Given the description of an element on the screen output the (x, y) to click on. 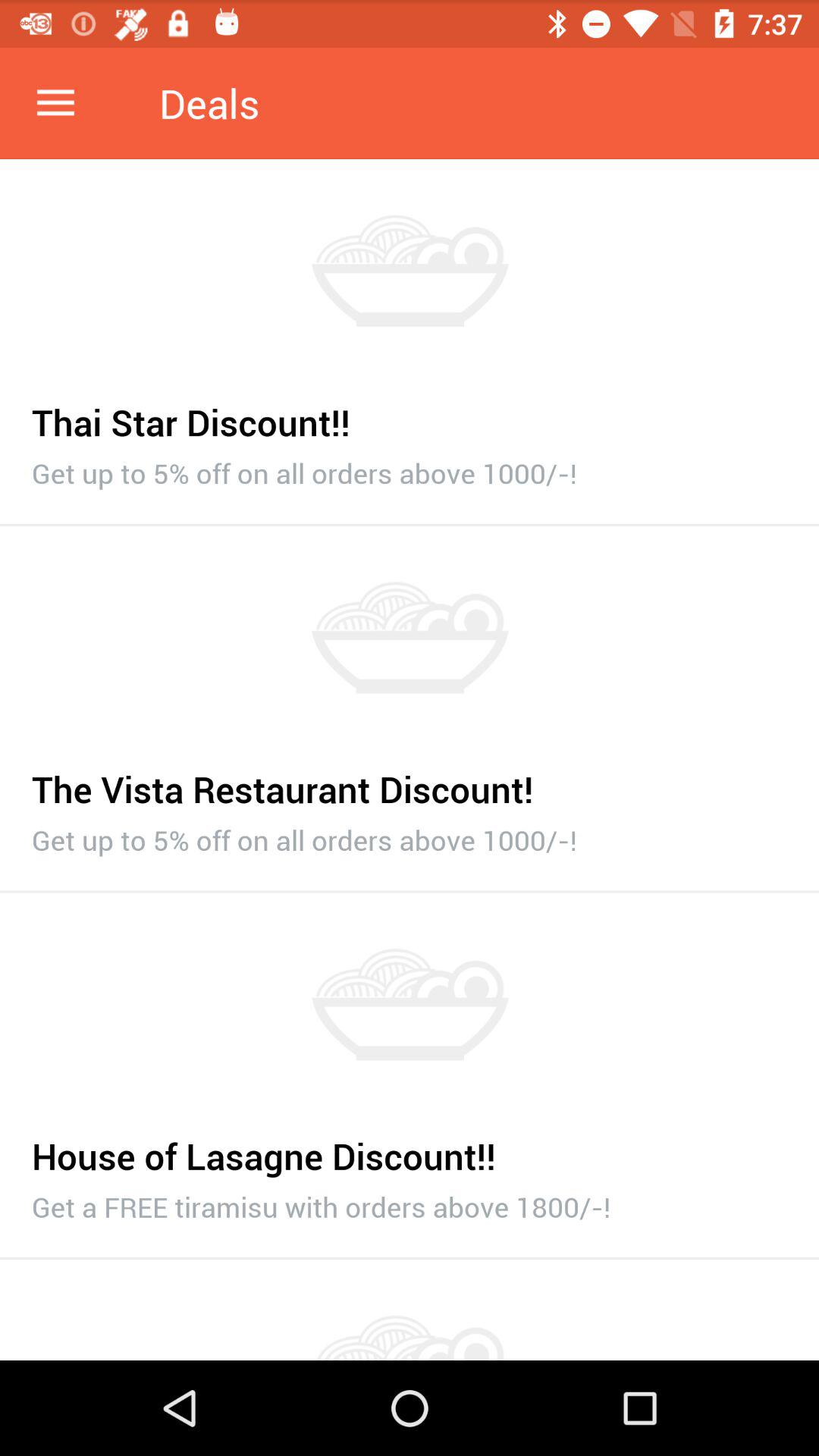
click the item below get up to (409, 891)
